Given the description of an element on the screen output the (x, y) to click on. 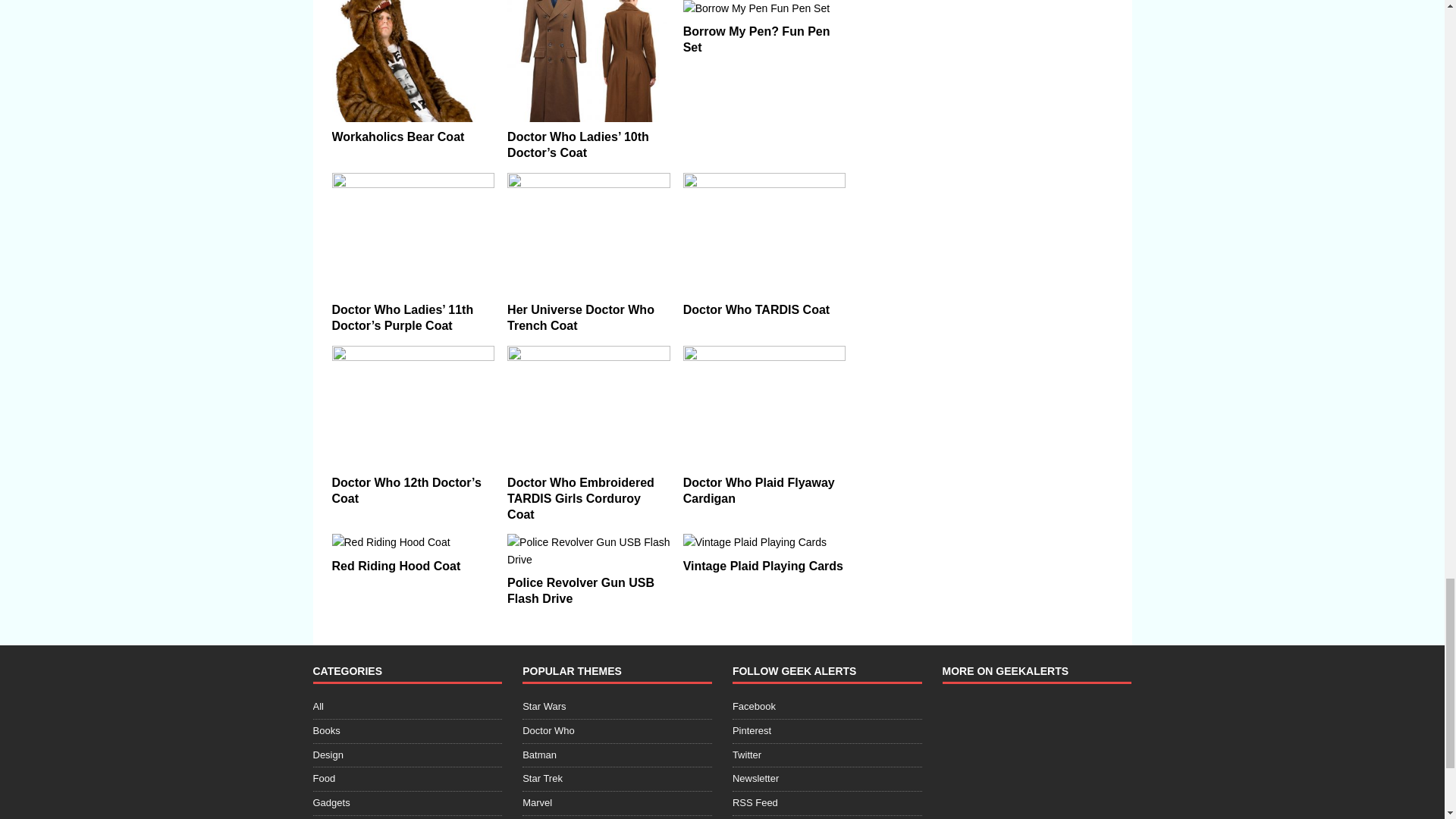
Workaholics Bear Coat (397, 136)
Workaholics Bear Coat (413, 61)
